Given the description of an element on the screen output the (x, y) to click on. 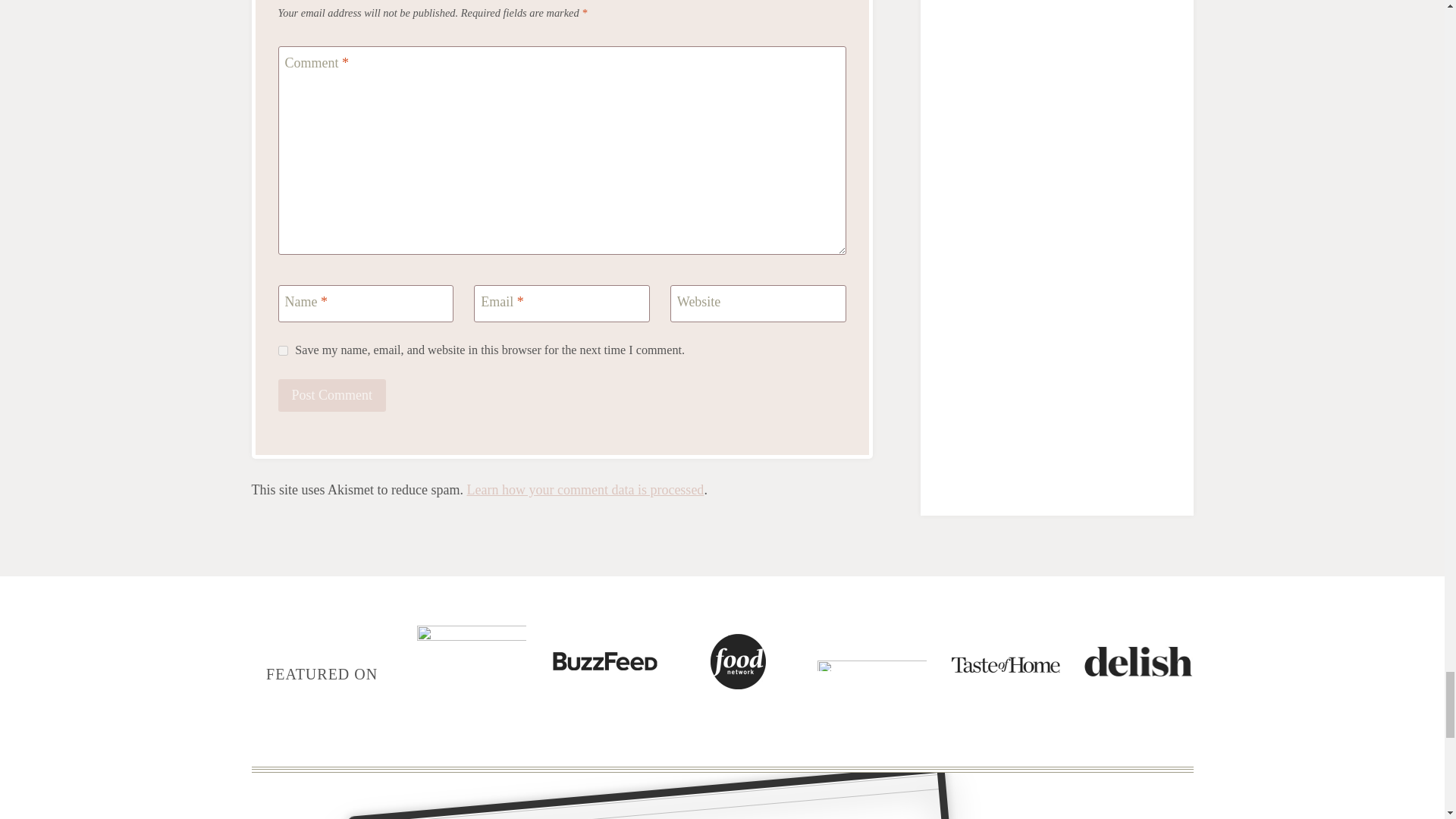
Post Comment (331, 395)
yes (282, 350)
